Given the description of an element on the screen output the (x, y) to click on. 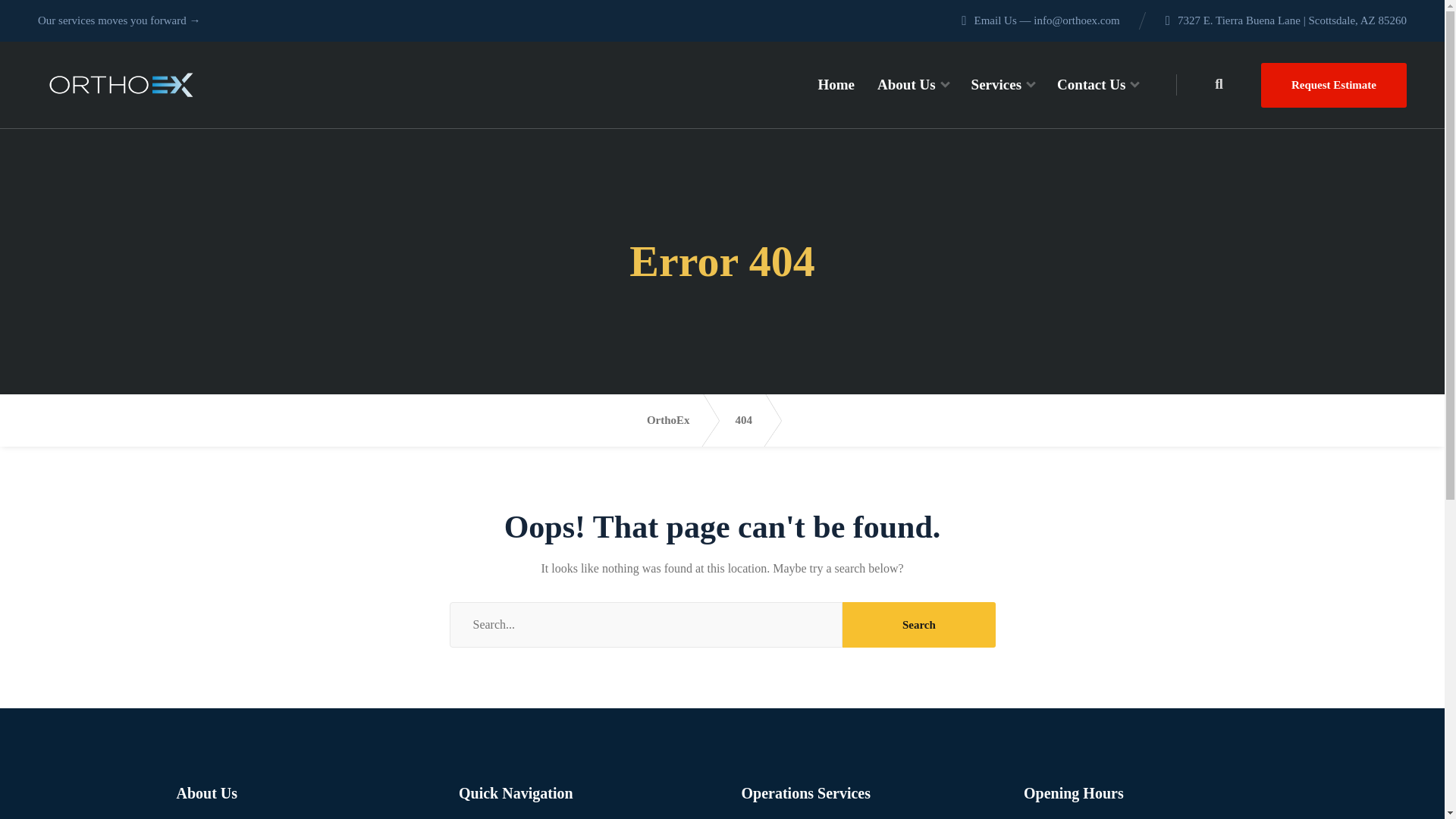
Request Estimate (1333, 84)
Search (918, 624)
Go to OrthoEx. (681, 419)
Search (918, 624)
Search (918, 624)
OrthoEx (121, 84)
Contact Us (1097, 84)
OrthoEx (681, 419)
